Given the description of an element on the screen output the (x, y) to click on. 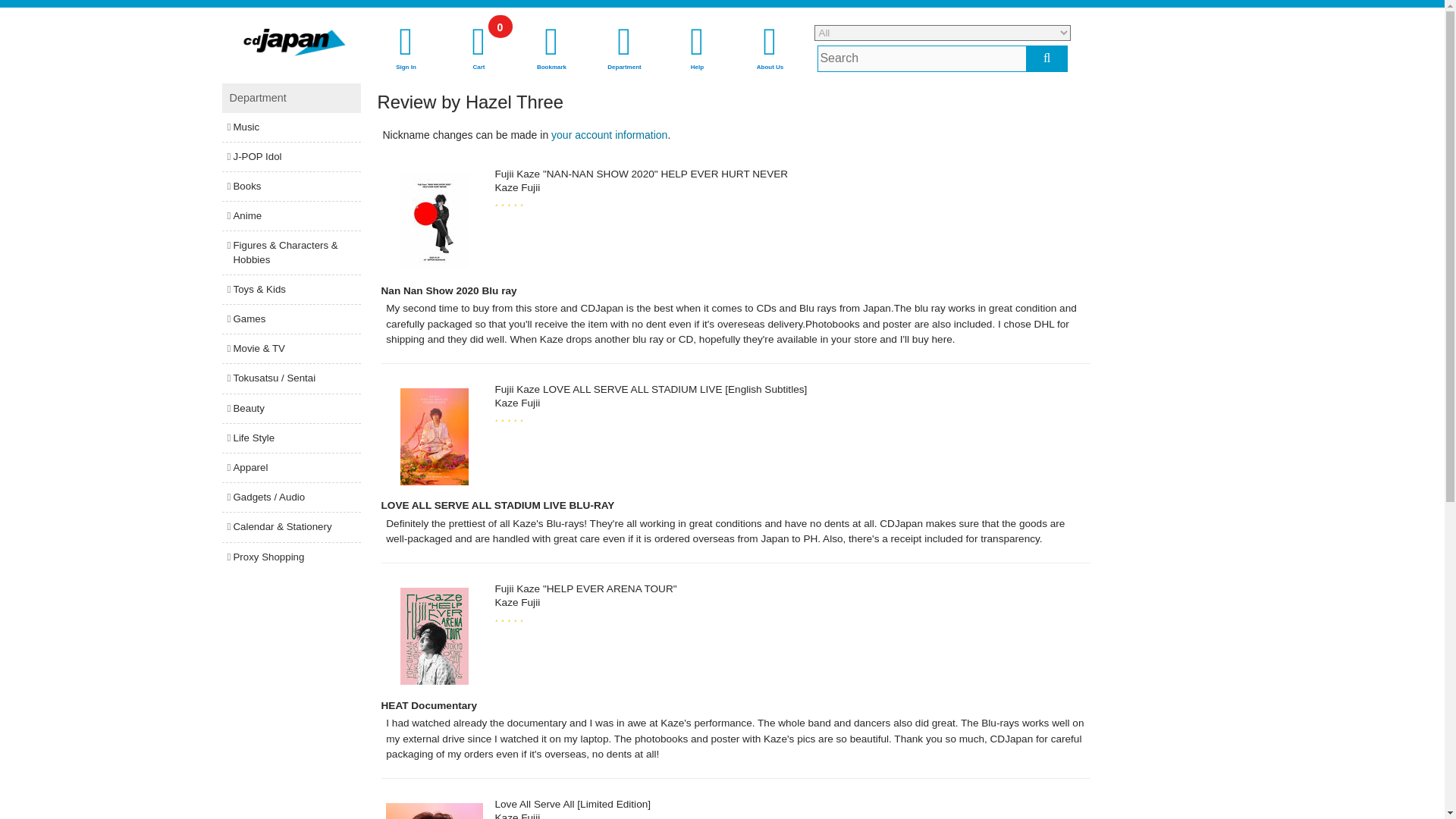
Beauty (290, 408)
Books (290, 185)
About Us (478, 48)
Games (769, 48)
J-POP Idol (290, 318)
Help (290, 156)
Sign In (697, 48)
your account information (405, 48)
Anime (608, 134)
Department (290, 215)
Music (624, 48)
Bookmark (290, 127)
